Given the description of an element on the screen output the (x, y) to click on. 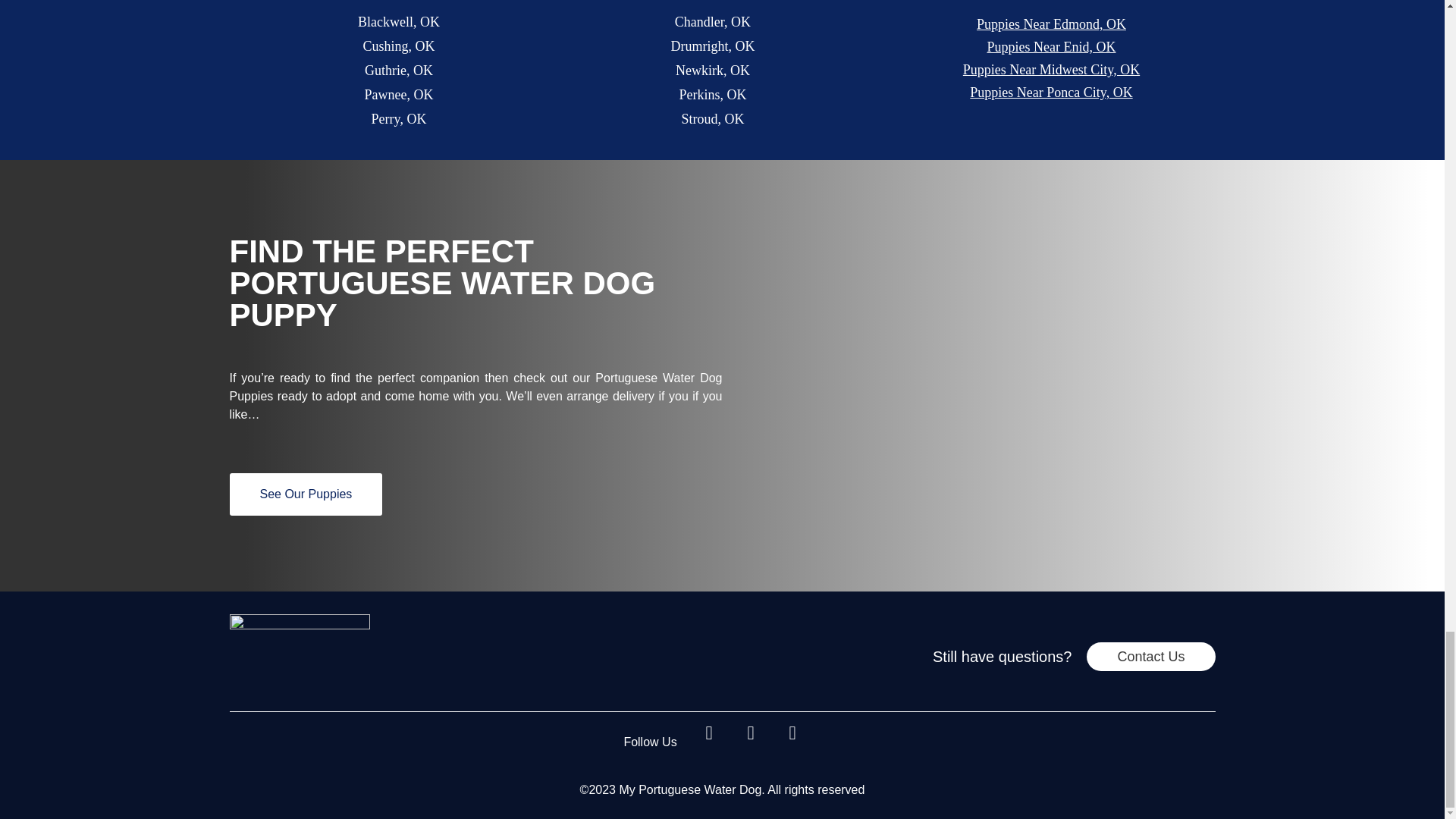
Puppies Near Ponca City, OK (1050, 92)
Puppies Near Enid, OK (1050, 46)
Puppies Near Edmond, OK (1050, 24)
Puppies Near Midwest City, OK (1050, 69)
